Given the description of an element on the screen output the (x, y) to click on. 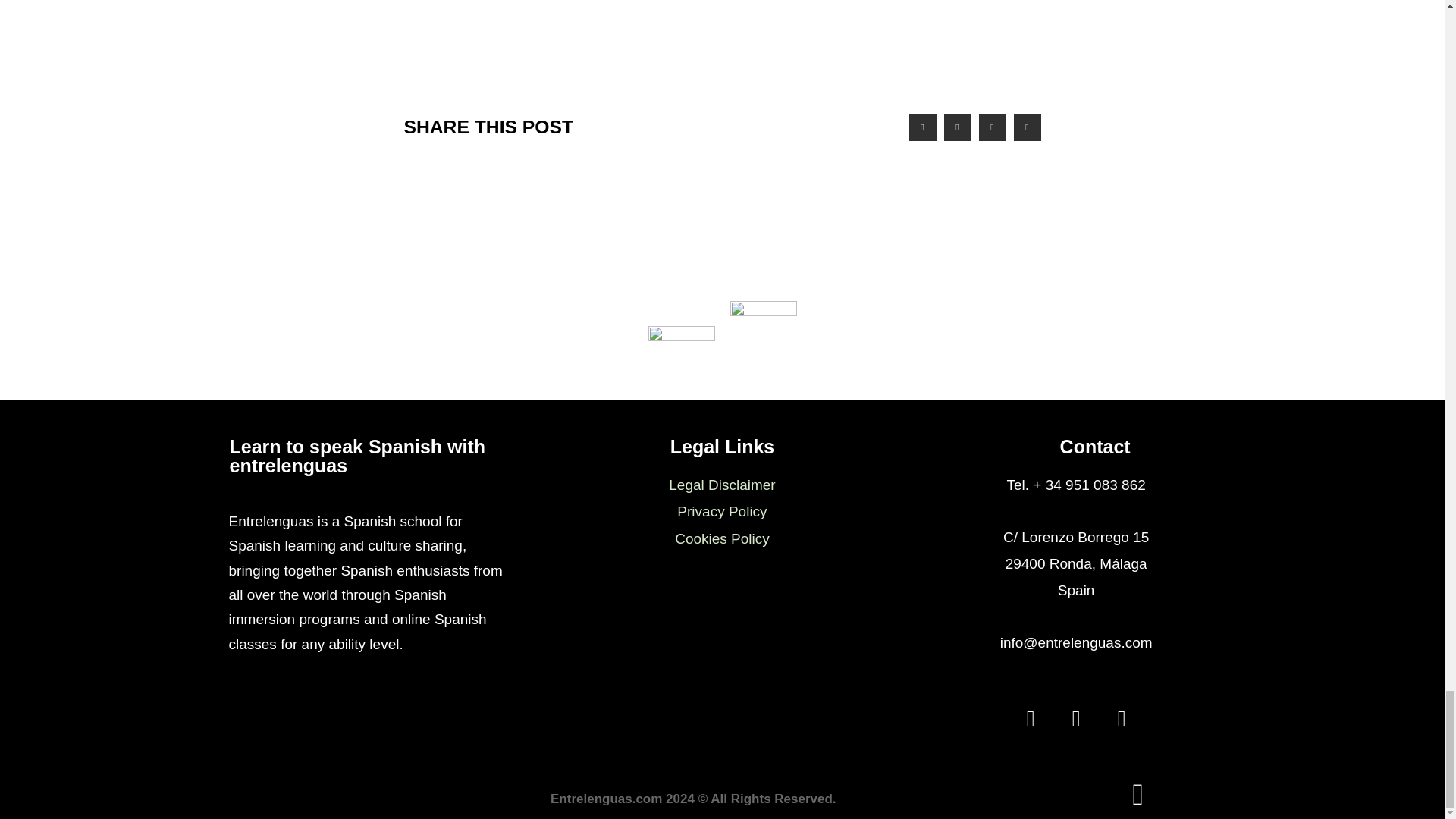
Instagram (1075, 719)
Legal Disclaimer (721, 484)
Whatsapp (1121, 719)
Cookies Policy (721, 538)
Facebook-f (1029, 719)
Privacy Policy (721, 510)
